Given the description of an element on the screen output the (x, y) to click on. 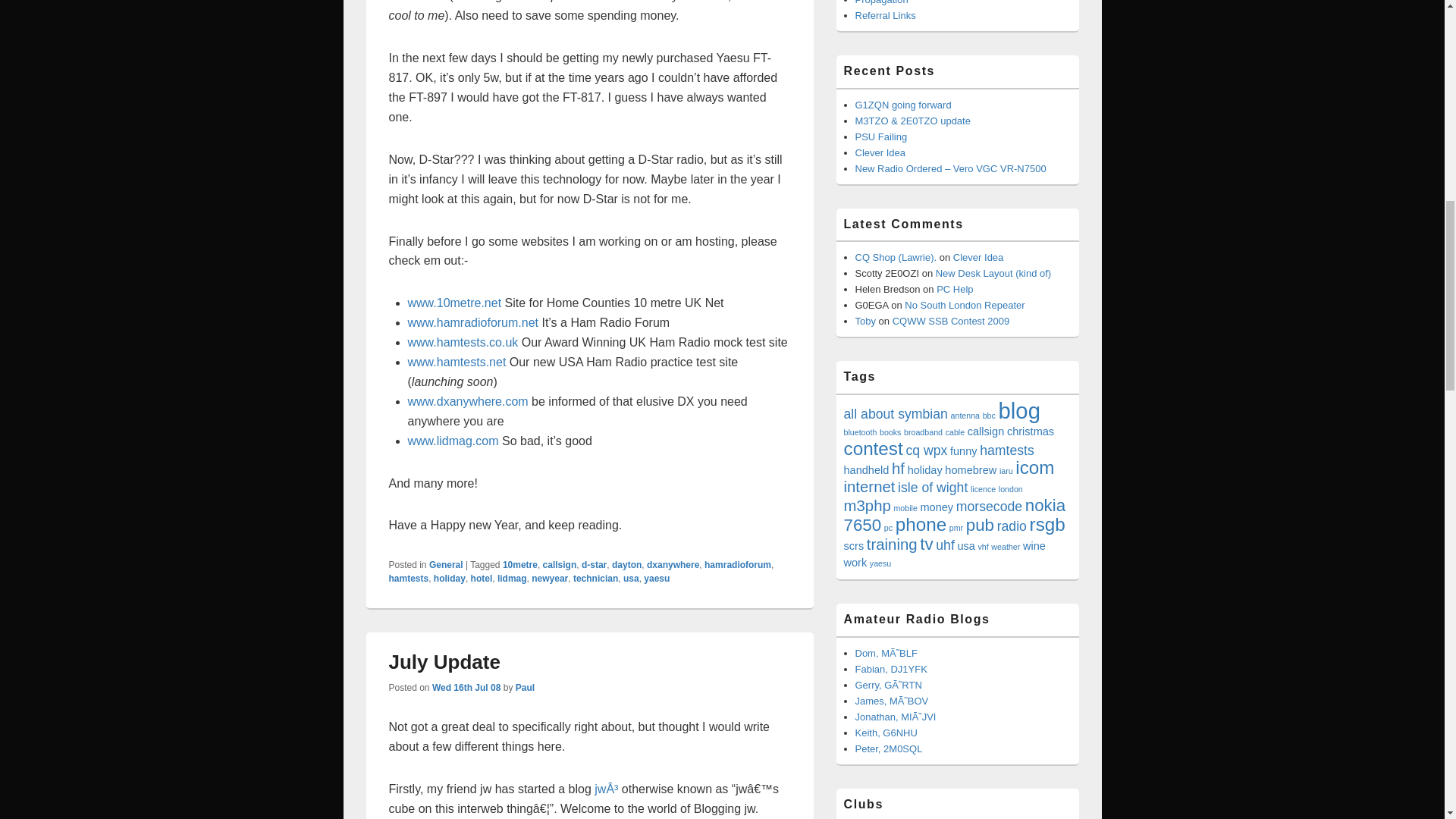
General (446, 564)
Permalink to July Update (443, 661)
callsign (559, 564)
d-star (593, 564)
Amateur Radio Station M0BLF (886, 653)
www.dxanywhere.com (467, 400)
10metre (519, 564)
www.10metre.net (454, 302)
The Jimbo WebCentre (892, 700)
View all posts by Paul (524, 687)
www.hamtests.net (456, 361)
www.hamradioforum.net (472, 322)
www.lidmag.com (453, 440)
www.hamtests.co.uk (462, 341)
